Given the description of an element on the screen output the (x, y) to click on. 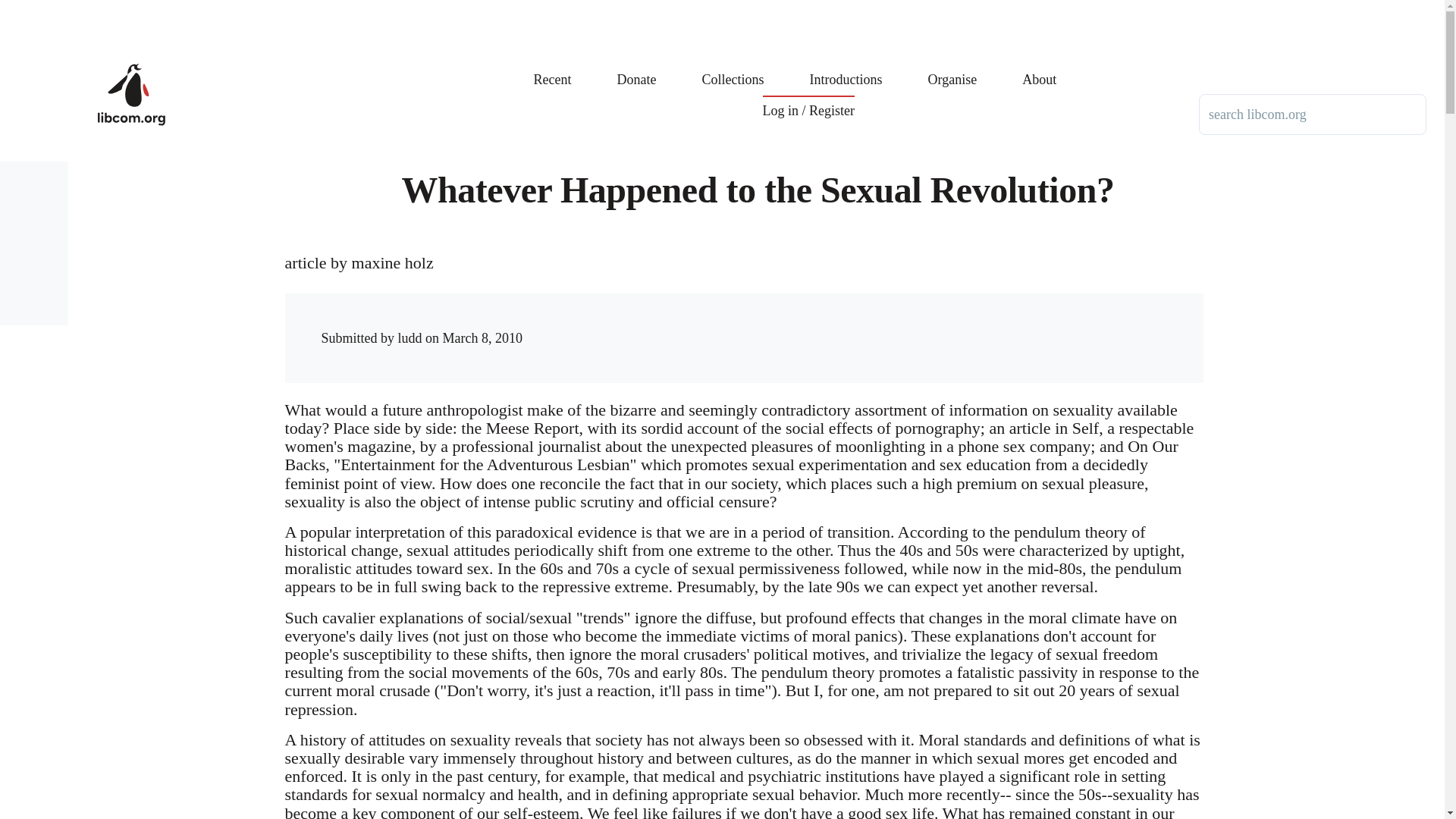
Share to Facebook (914, 323)
Share to Reddit (975, 323)
Skip to main content (595, 6)
Introductions (845, 68)
Share to Twitter (945, 323)
Organise (952, 68)
Collections (732, 68)
